Given the description of an element on the screen output the (x, y) to click on. 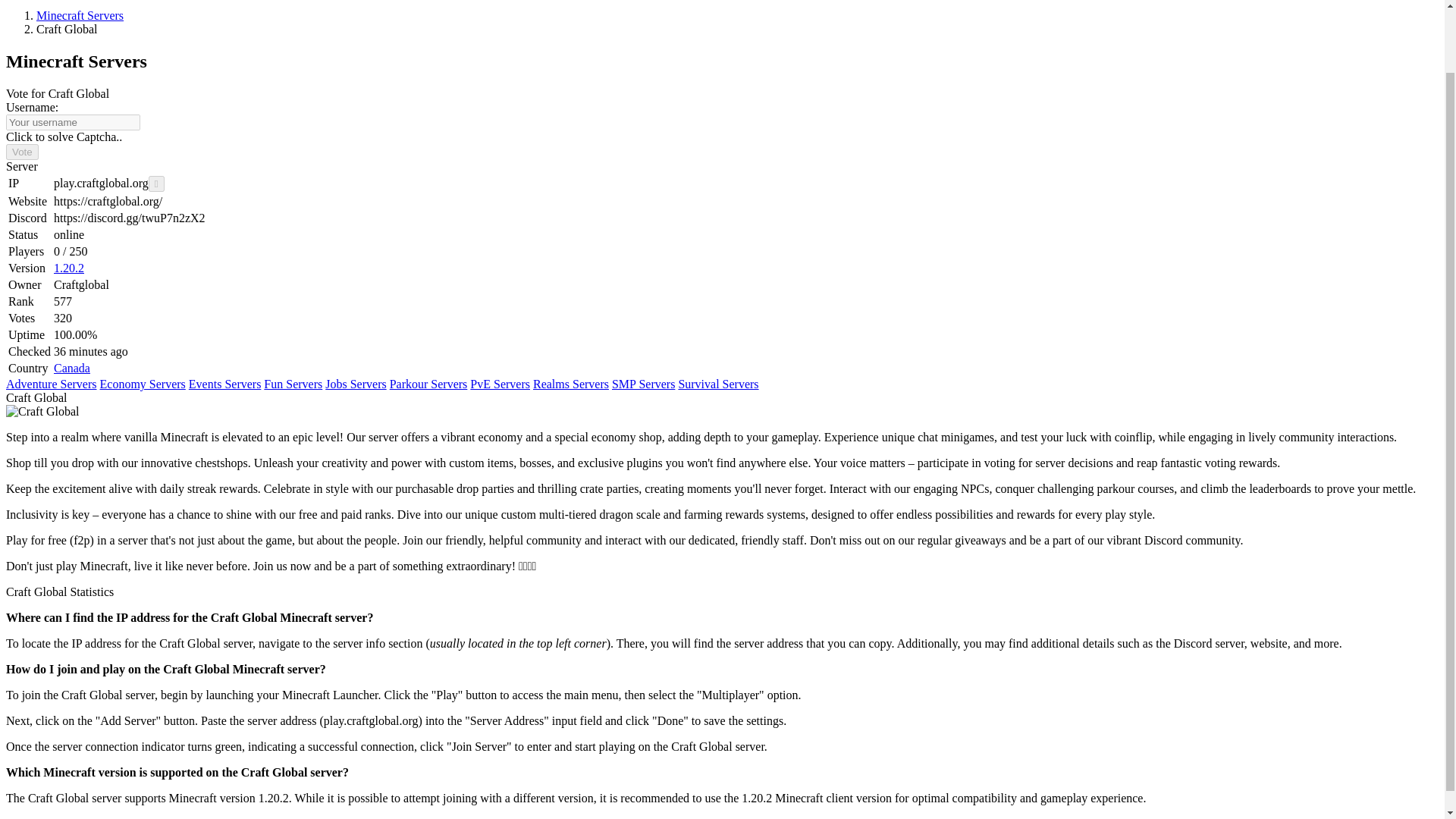
Vote (22, 151)
PvE Servers (499, 383)
1.20.2 (68, 267)
Fun Servers (292, 383)
Vote (22, 151)
Copy play.craftglobal.org (156, 183)
Realms Servers (570, 383)
Canada (71, 367)
Events Servers (225, 383)
Economy Servers (143, 383)
Adventure Servers (51, 383)
Parkour Servers (428, 383)
Jobs Servers (354, 383)
Survival Servers (718, 383)
SMP Servers (643, 383)
